Given the description of an element on the screen output the (x, y) to click on. 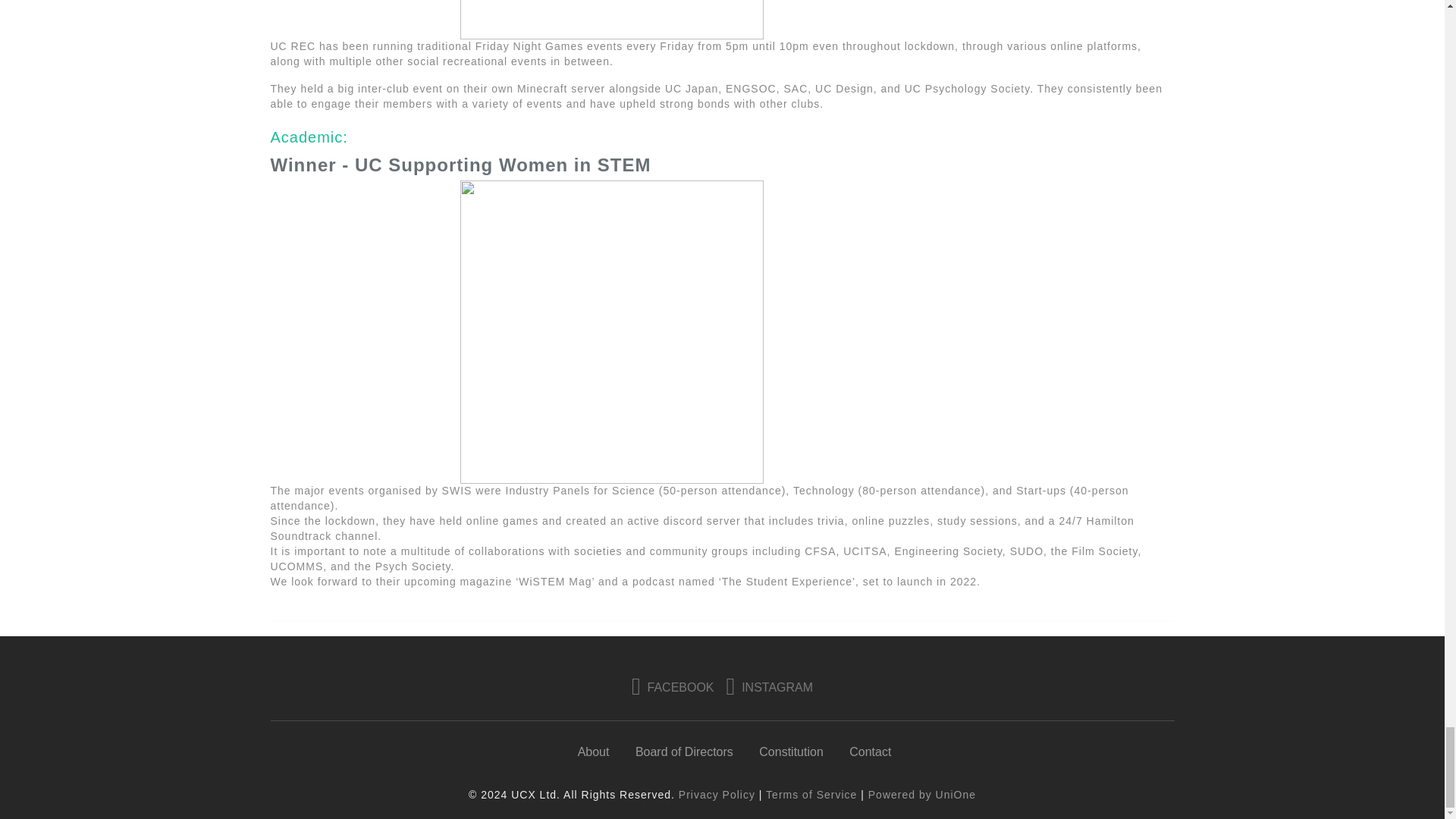
Privacy Policy (716, 794)
Terms of Service (811, 794)
Contact (869, 751)
Board of Directors (683, 751)
INSTAGRAM (769, 686)
Powered by UniOne (921, 794)
Constitution (791, 751)
FACEBOOK (672, 686)
About (594, 751)
